Given the description of an element on the screen output the (x, y) to click on. 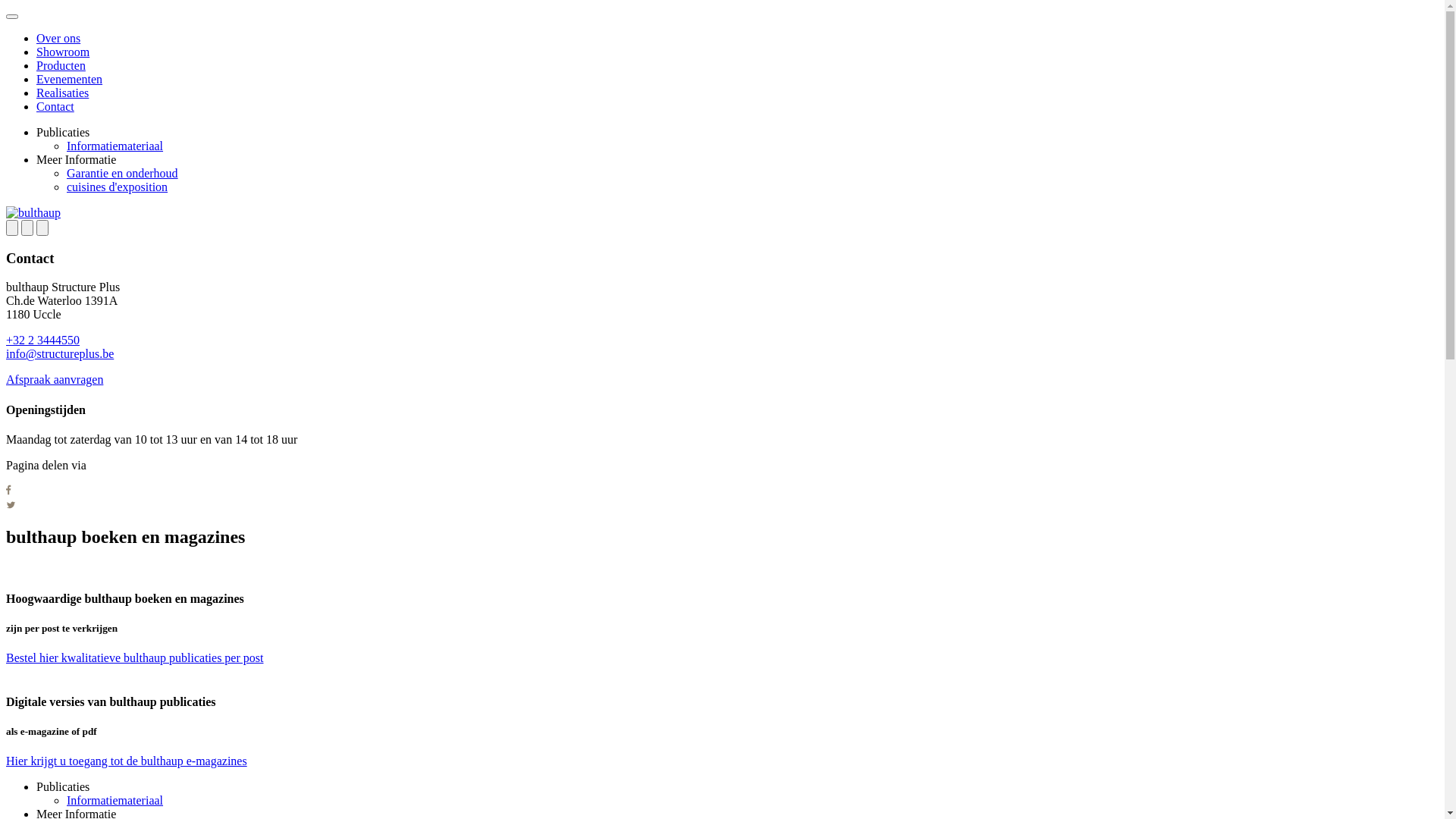
info@structureplus.be Element type: text (59, 353)
Realisaties Element type: text (62, 92)
cuisines d'exposition Element type: text (116, 186)
+32 2 3444550 Element type: text (42, 339)
Contact Element type: text (55, 106)
share on facebook Element type: hover (8, 490)
Informatiemateriaal Element type: text (114, 145)
Garantie en onderhoud Element type: text (122, 172)
menu openen Element type: hover (12, 16)
Showroom Element type: text (62, 51)
Bestel hier kwalitatieve bulthaup publicaties per post Element type: text (134, 657)
share Element type: hover (27, 227)
Producten Element type: text (60, 65)
Publicaties Element type: text (62, 131)
Afspraak aanvragen Element type: text (54, 379)
close Element type: hover (42, 227)
Evenementen Element type: text (69, 78)
Meer Informatie Element type: text (76, 159)
Hier krijgt u toegang tot de bulthaup e-magazines Element type: text (126, 760)
Informatiemateriaal Element type: text (114, 799)
Over ons Element type: text (58, 37)
